Given the description of an element on the screen output the (x, y) to click on. 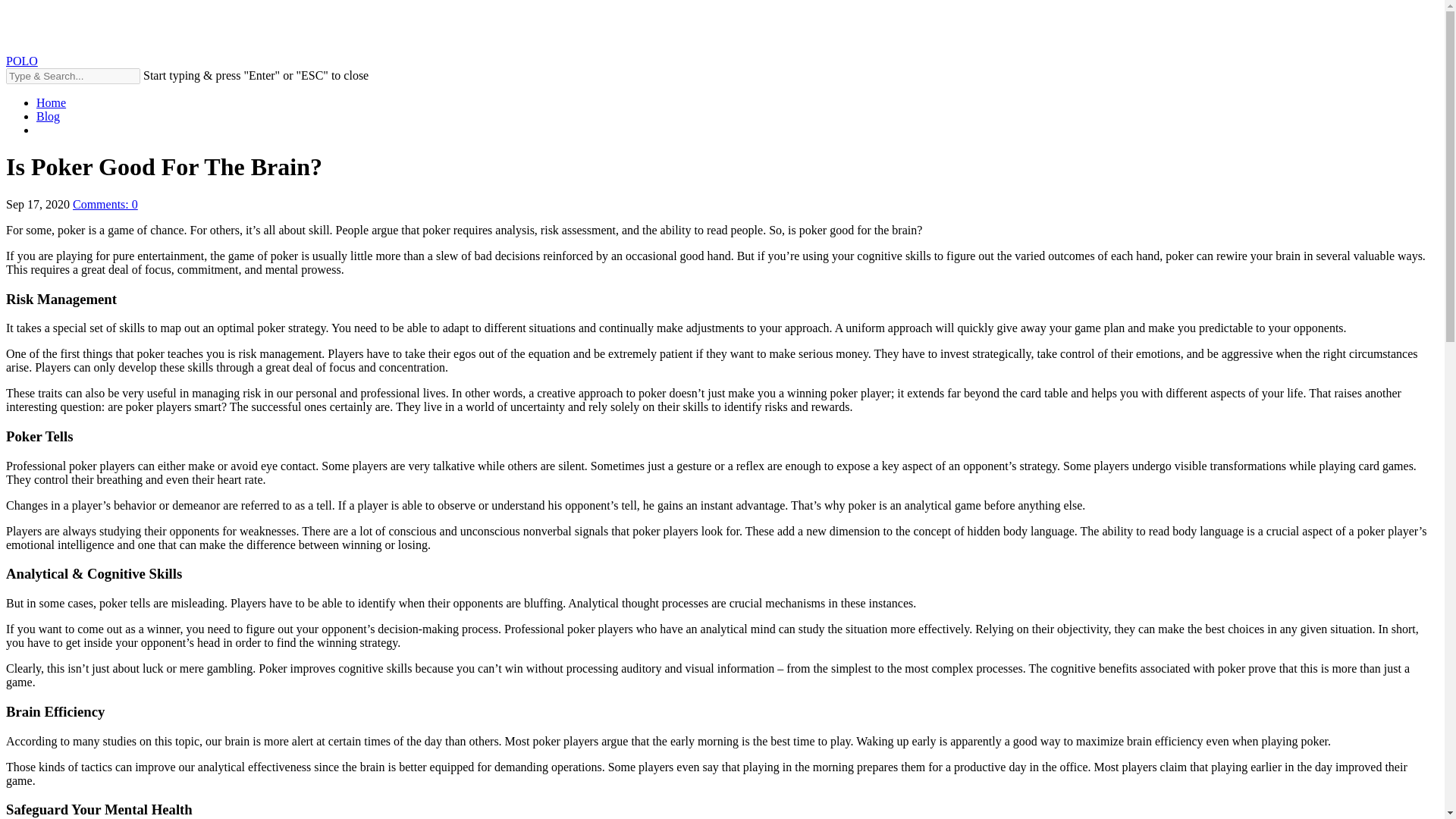
Comments: 0 (105, 204)
Home (50, 102)
Blog (47, 115)
